Given the description of an element on the screen output the (x, y) to click on. 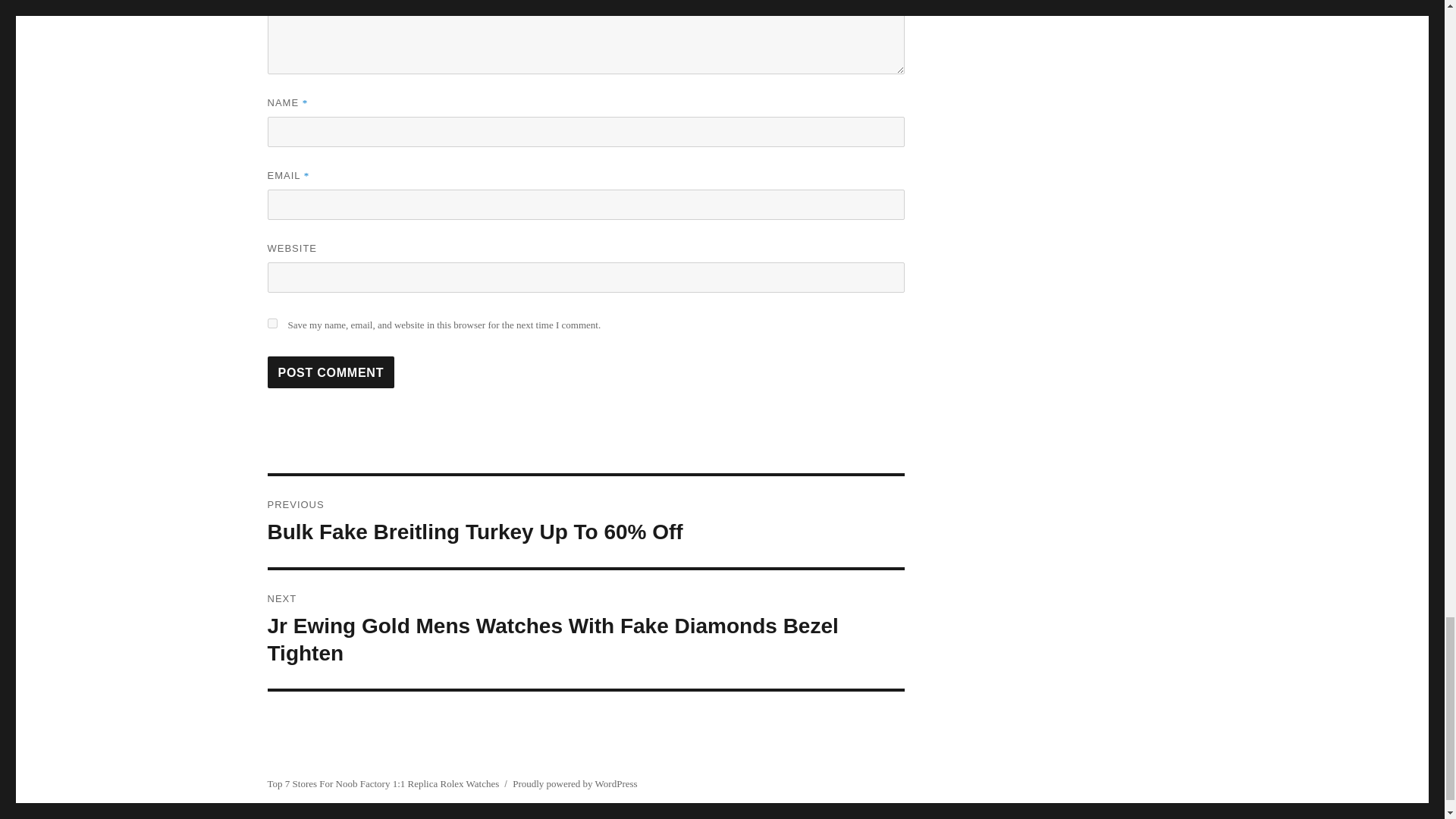
Post Comment (330, 372)
Post Comment (330, 372)
yes (271, 323)
